Given the description of an element on the screen output the (x, y) to click on. 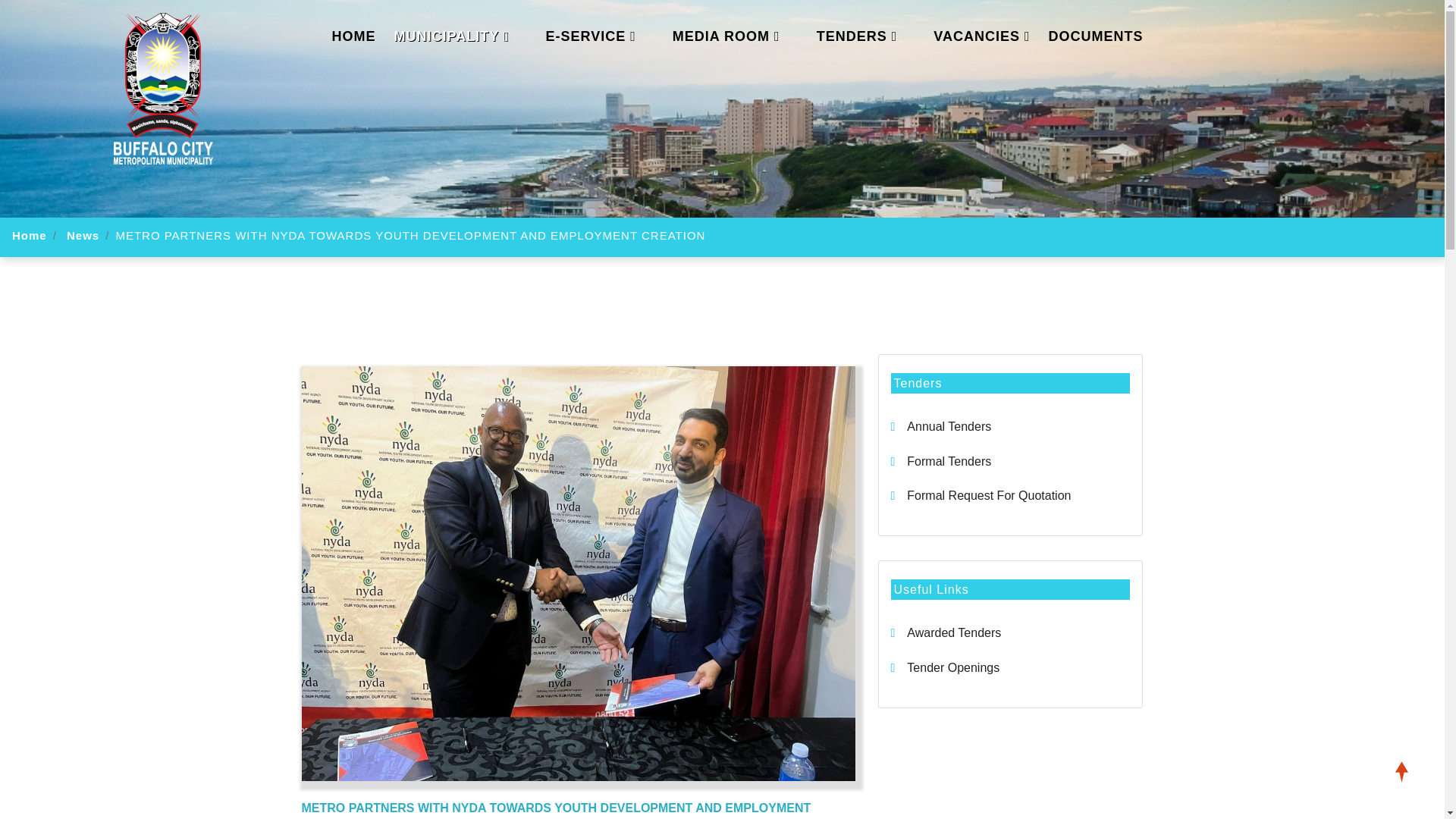
TENDERS (857, 36)
News (82, 235)
VACANCIES (981, 36)
MUNICIPALITY (451, 36)
Home (28, 235)
Formal Request For Quotation (979, 495)
Annual Tenders (940, 426)
Tender Openings (943, 667)
MEDIA ROOM (726, 36)
Awarded Tenders (945, 632)
DOCUMENTS (1095, 36)
E-SERVICE (589, 36)
HOME (353, 36)
Formal Tenders (940, 461)
